Given the description of an element on the screen output the (x, y) to click on. 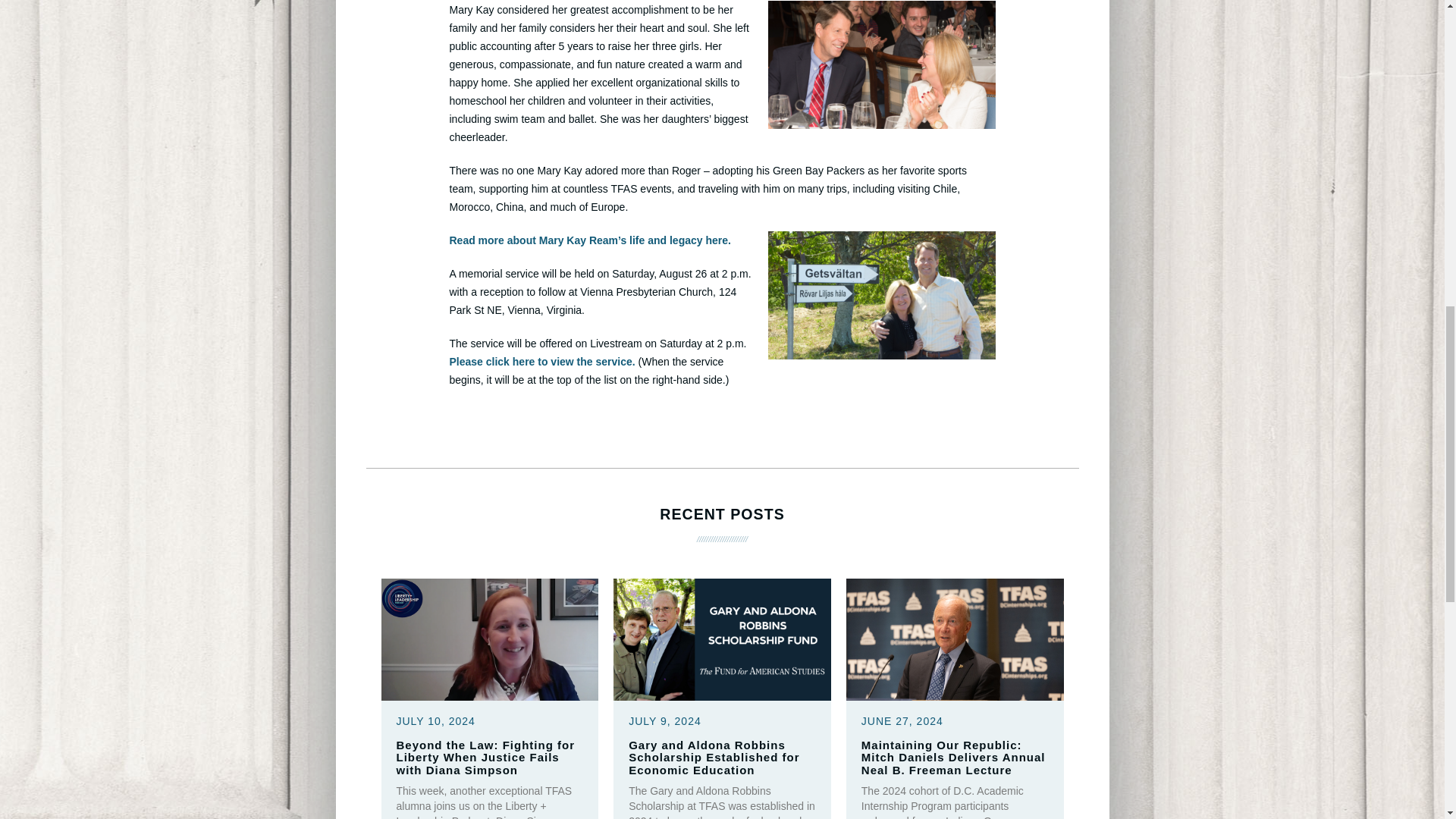
Please click here to view the service. (541, 361)
